Given the description of an element on the screen output the (x, y) to click on. 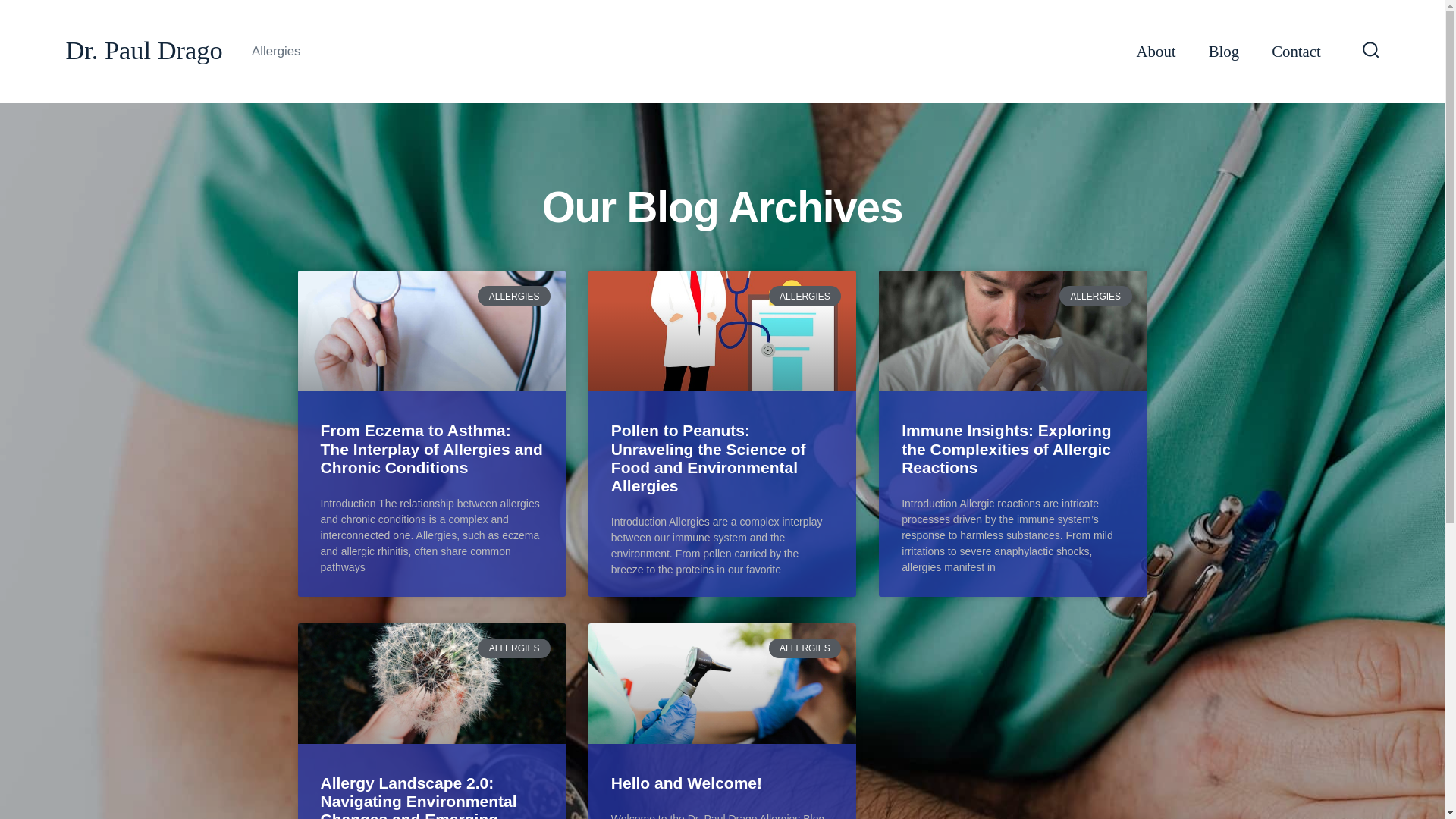
Blog (1223, 51)
About (1156, 51)
Hello and Welcome! (686, 782)
Contact (1295, 51)
Dr. Paul Drago (143, 51)
